Given the description of an element on the screen output the (x, y) to click on. 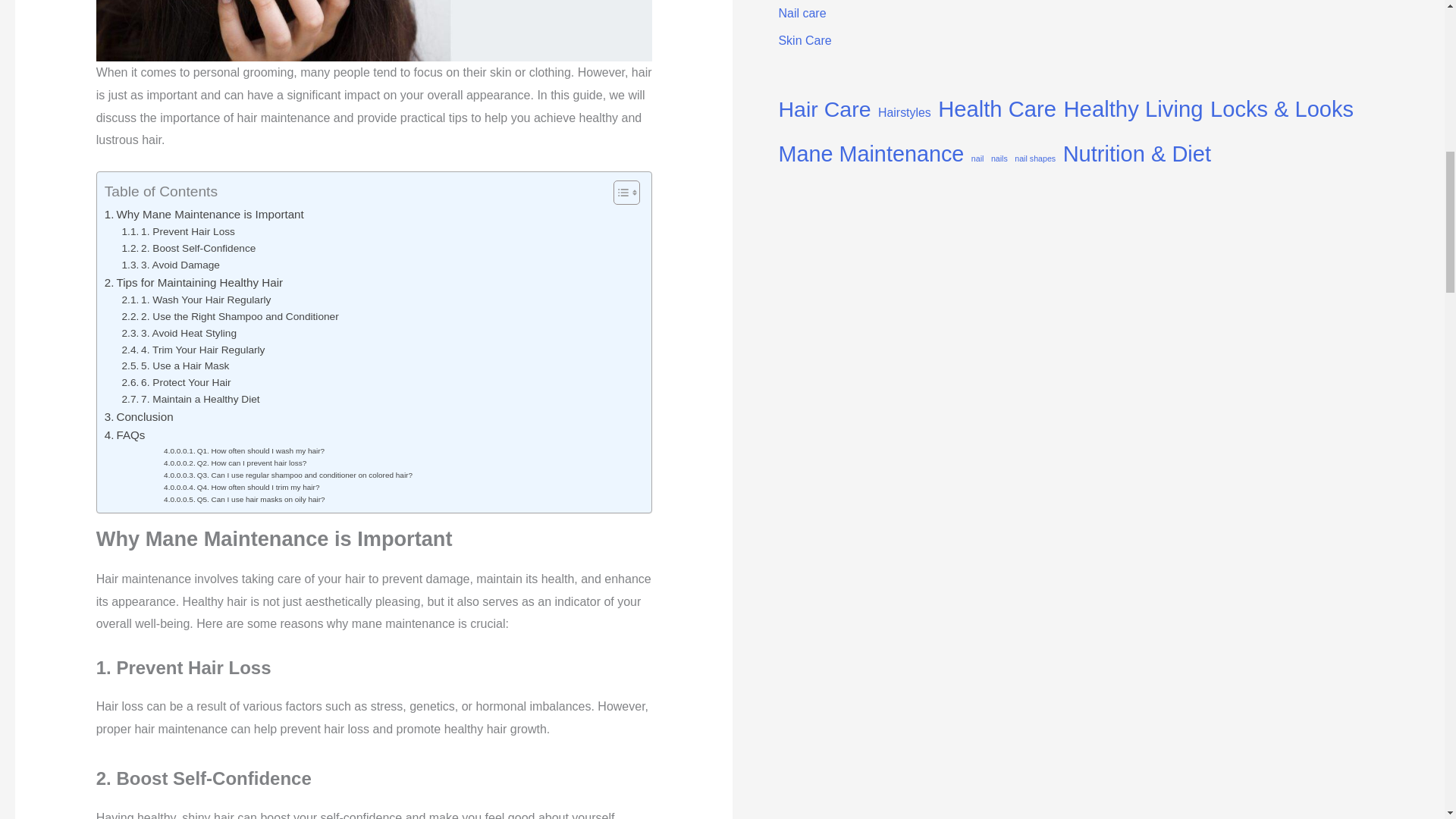
7. Maintain a Healthy Diet (191, 399)
5. Use a Hair Mask (176, 365)
2. Use the Right Shampoo and Conditioner (230, 316)
4. Trim Your Hair Regularly (193, 350)
3. Avoid Heat Styling (178, 333)
2. Boost Self-Confidence (189, 248)
1. Wash Your Hair Regularly (196, 299)
1. Prevent Hair Loss (178, 231)
Tips for Maintaining Healthy Hair (193, 282)
3. Avoid Damage (170, 265)
Why Mane Maintenance is Important (204, 214)
6. Protect Your Hair (176, 382)
